Given the description of an element on the screen output the (x, y) to click on. 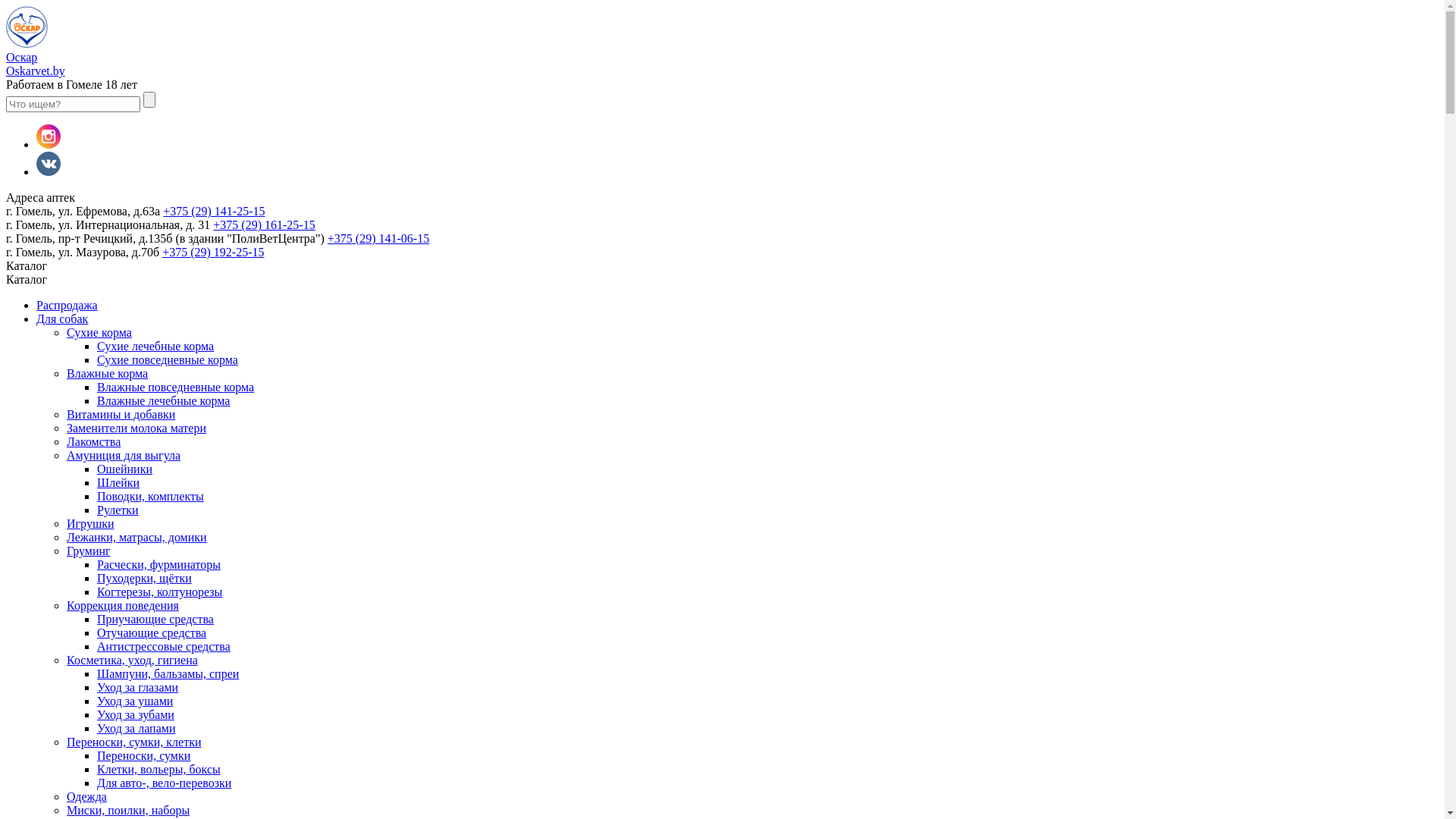
Skip to content Element type: text (6, 6)
+375 (29) 141-06-15 Element type: text (378, 238)
+375 (29) 141-25-15 Element type: text (213, 210)
+375 (29) 161-25-15 Element type: text (263, 224)
+375 (29) 192-25-15 Element type: text (212, 251)
